Given the description of an element on the screen output the (x, y) to click on. 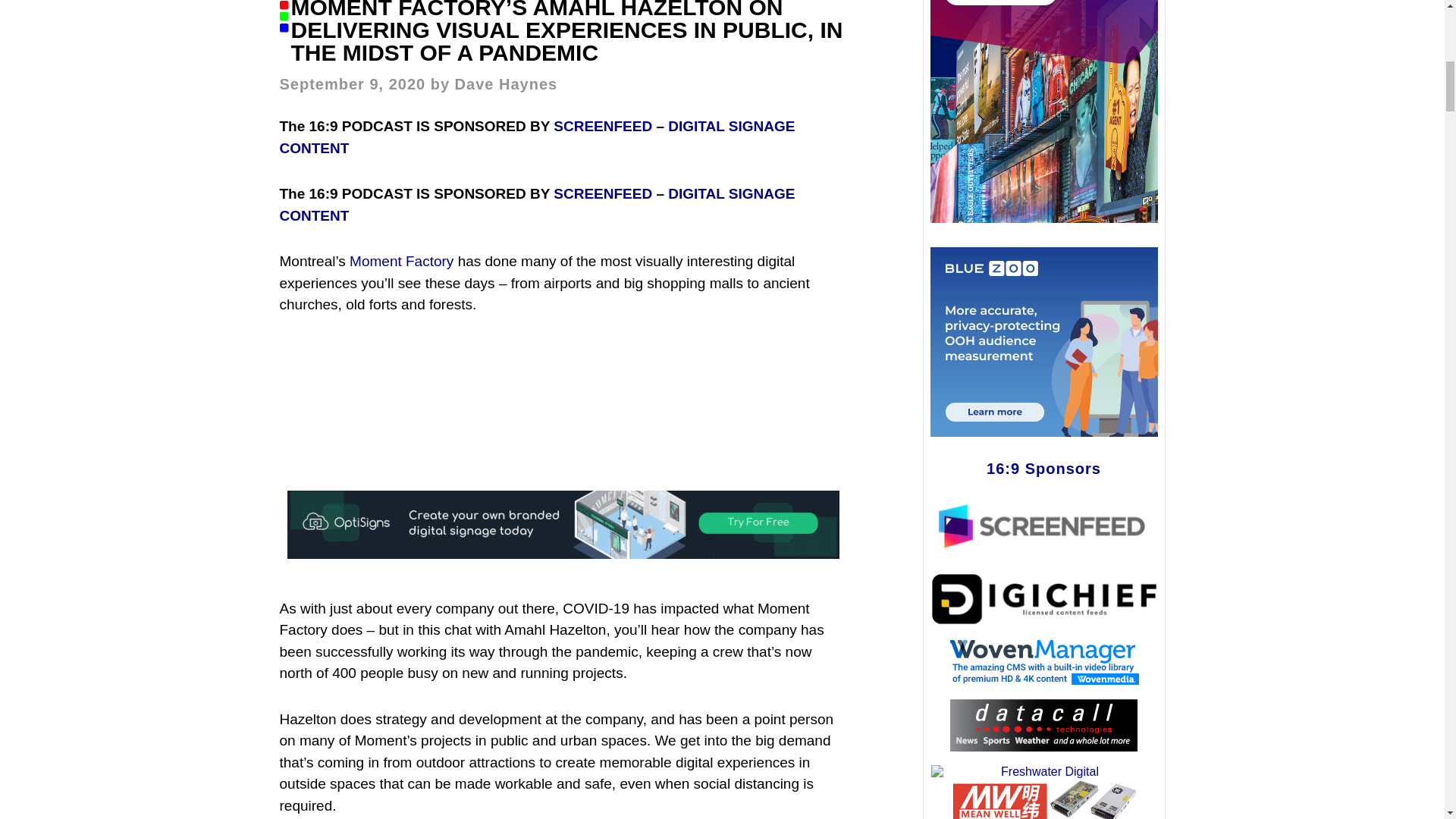
Amahl Hazelton, Moment Factory (562, 397)
SCREENFEED (602, 193)
SCREENFEED (602, 125)
DIGITAL SIGNAGE CONTENT (536, 204)
DIGITAL SIGNAGE CONTENT (536, 136)
Moment Factory (400, 261)
